Given the description of an element on the screen output the (x, y) to click on. 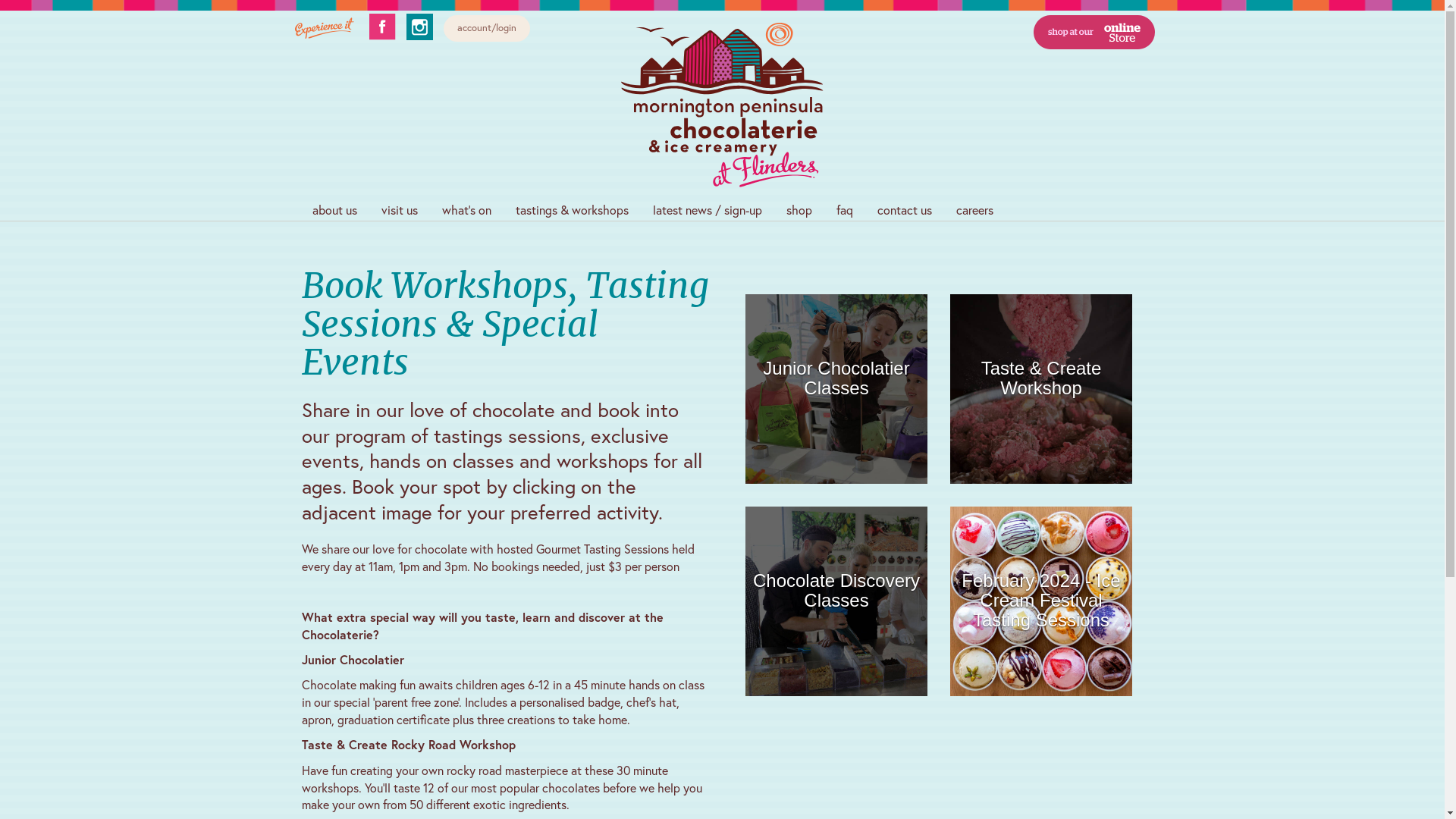
tastings & workshops Element type: text (572, 209)
shop at our online store Element type: hover (1093, 106)
faq Element type: text (843, 209)
contact us Element type: text (903, 209)
careers Element type: text (973, 209)
shop Element type: text (798, 209)
about us Element type: text (334, 209)
visit us Element type: text (398, 209)
account/login Element type: text (485, 28)
latest news / sign-up Element type: text (706, 209)
